Given the description of an element on the screen output the (x, y) to click on. 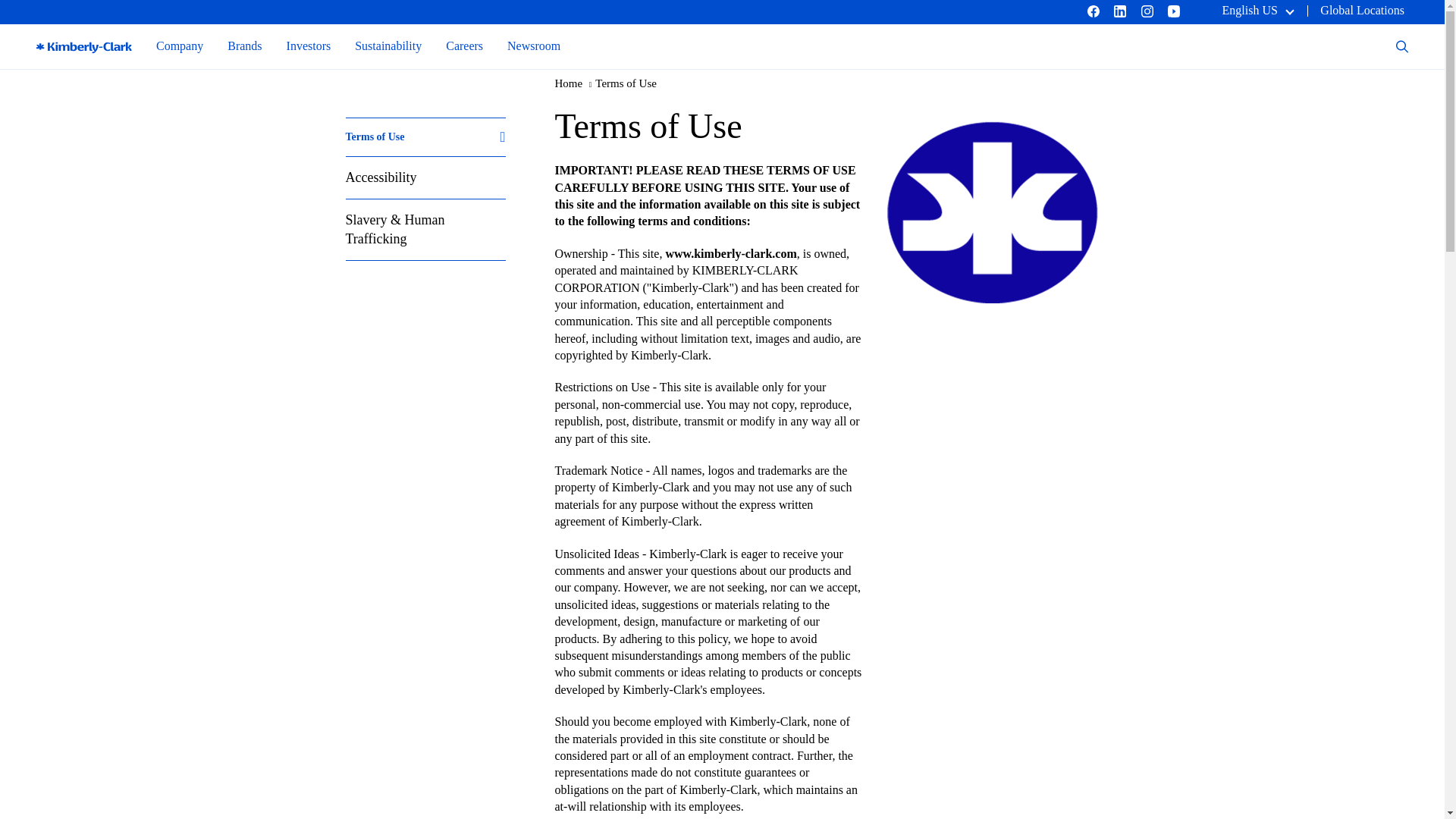
Global Locations (1362, 10)
Company (179, 45)
English US (1257, 10)
